Given the description of an element on the screen output the (x, y) to click on. 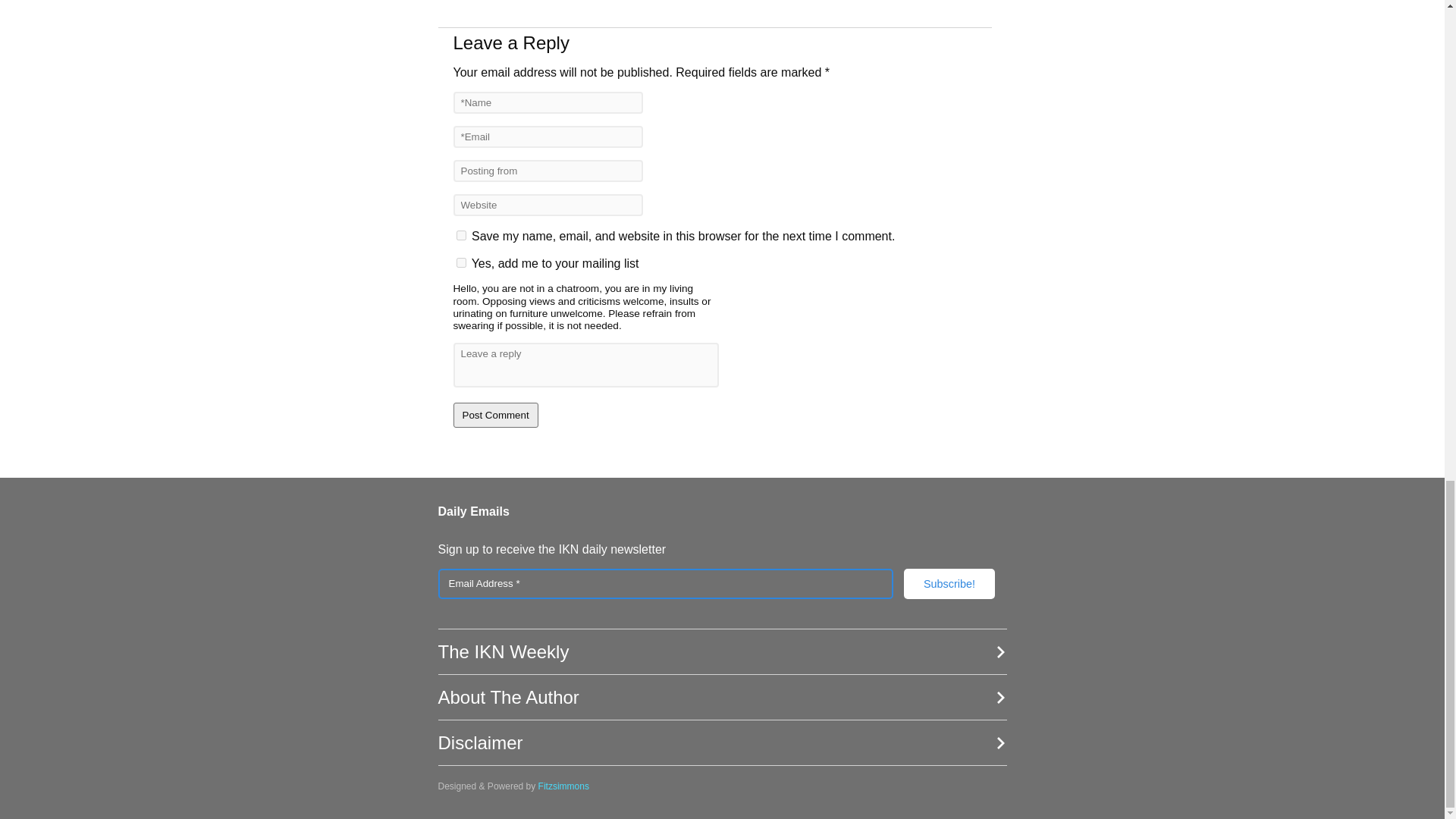
Subscribe! (949, 583)
yes (461, 235)
Post Comment (495, 414)
Subscribe! (949, 583)
Email Address (665, 583)
About The Author (722, 697)
1 (461, 262)
Post Comment (495, 414)
Fitzsimmons (563, 786)
